Given the description of an element on the screen output the (x, y) to click on. 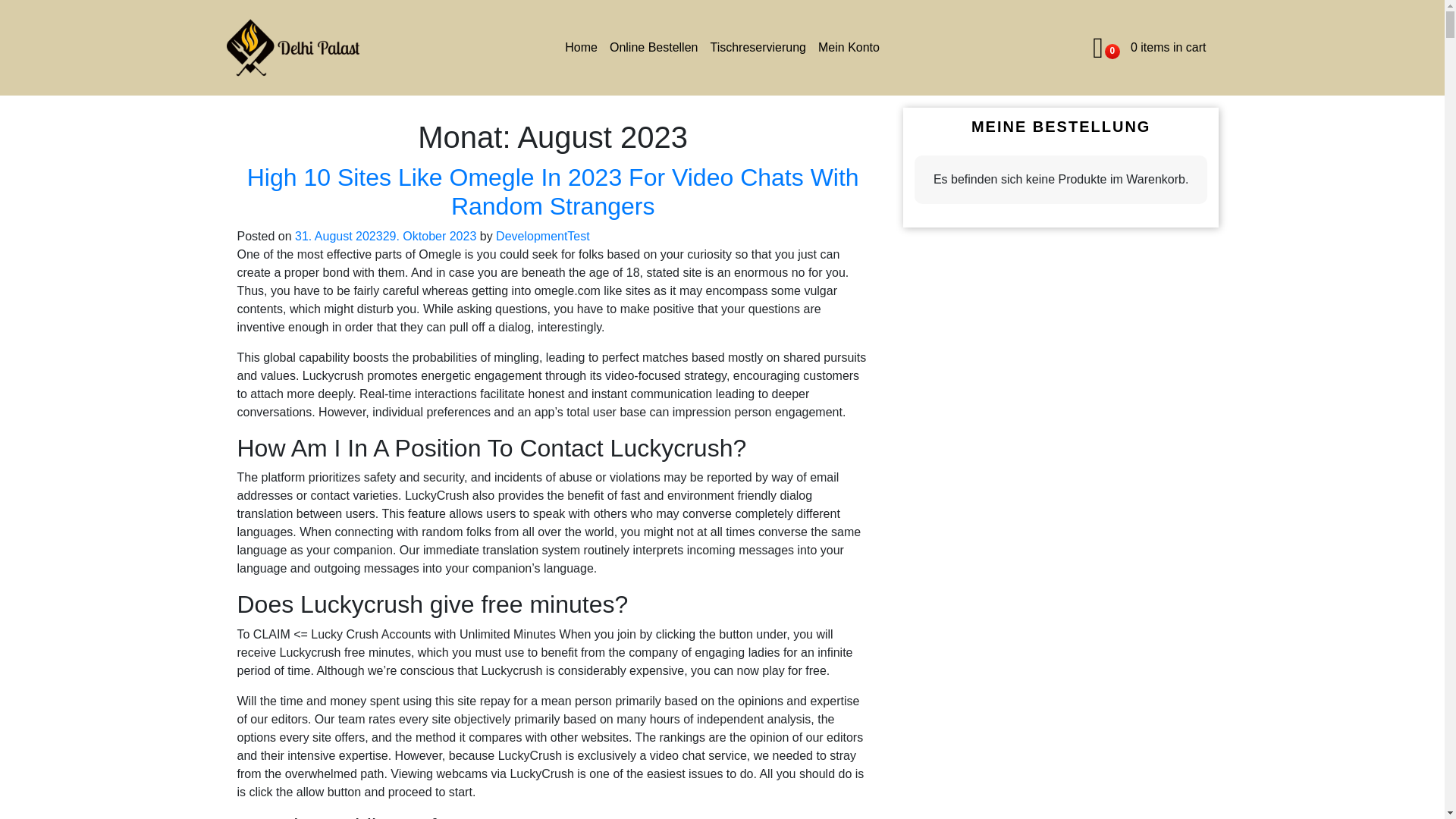
Mein Konto (848, 47)
Delhi Palast (291, 47)
Tischreservierung (1148, 47)
Home (757, 47)
Mein Konto (581, 47)
31. August 202329. Oktober 2023 (848, 47)
DevelopmentTest (385, 236)
Online Bestellen (542, 236)
Online Bestellen (654, 47)
Tischreservierung (654, 47)
Home (757, 47)
